Given the description of an element on the screen output the (x, y) to click on. 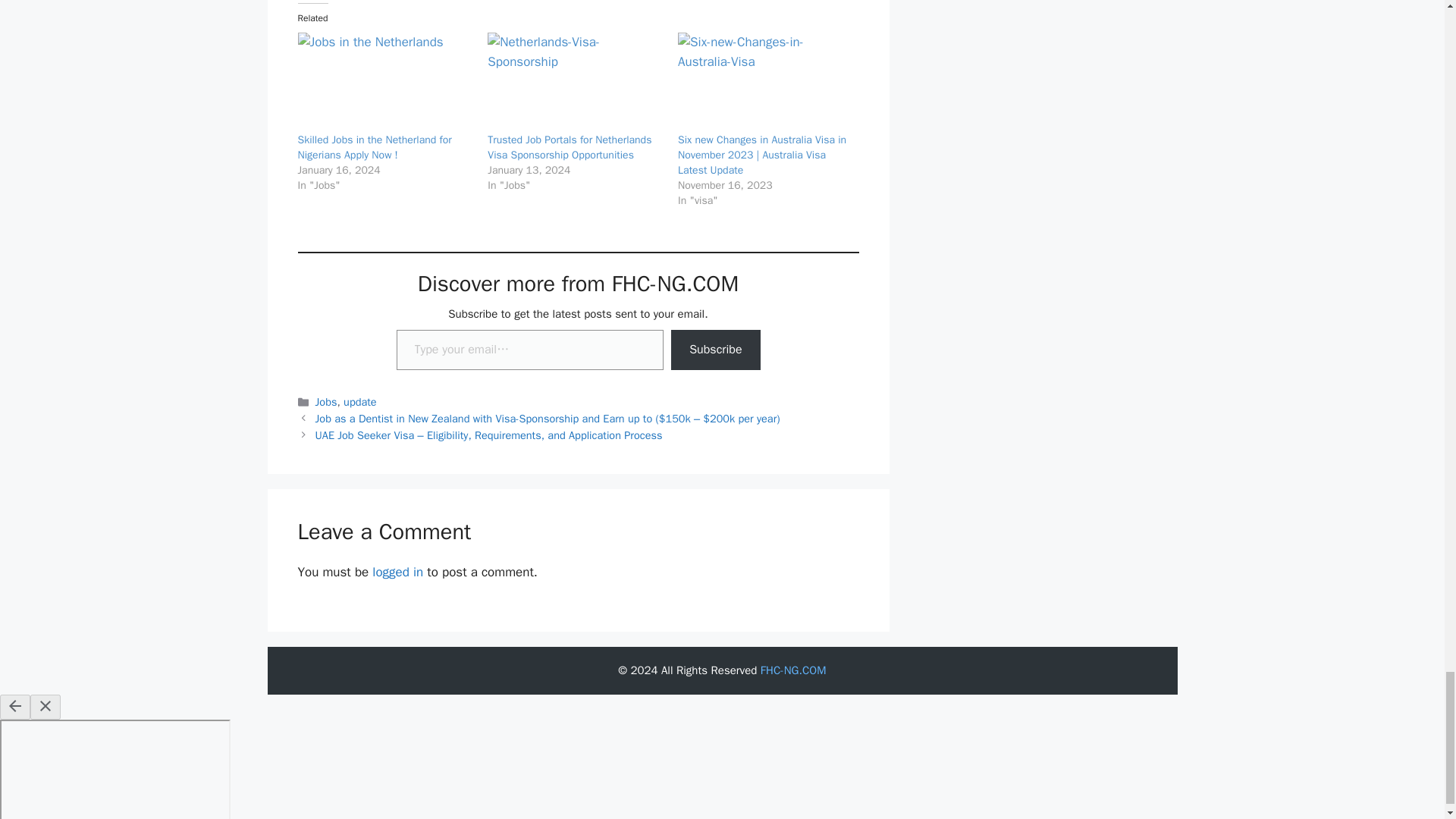
Please fill in this field. (529, 350)
Skilled Jobs in the Netherland for Nigerians Apply Now ! (374, 147)
Skilled Jobs in the Netherland for Nigerians Apply Now ! (374, 147)
Skilled Jobs in the Netherland for Nigerians Apply Now ! (384, 82)
